Given the description of an element on the screen output the (x, y) to click on. 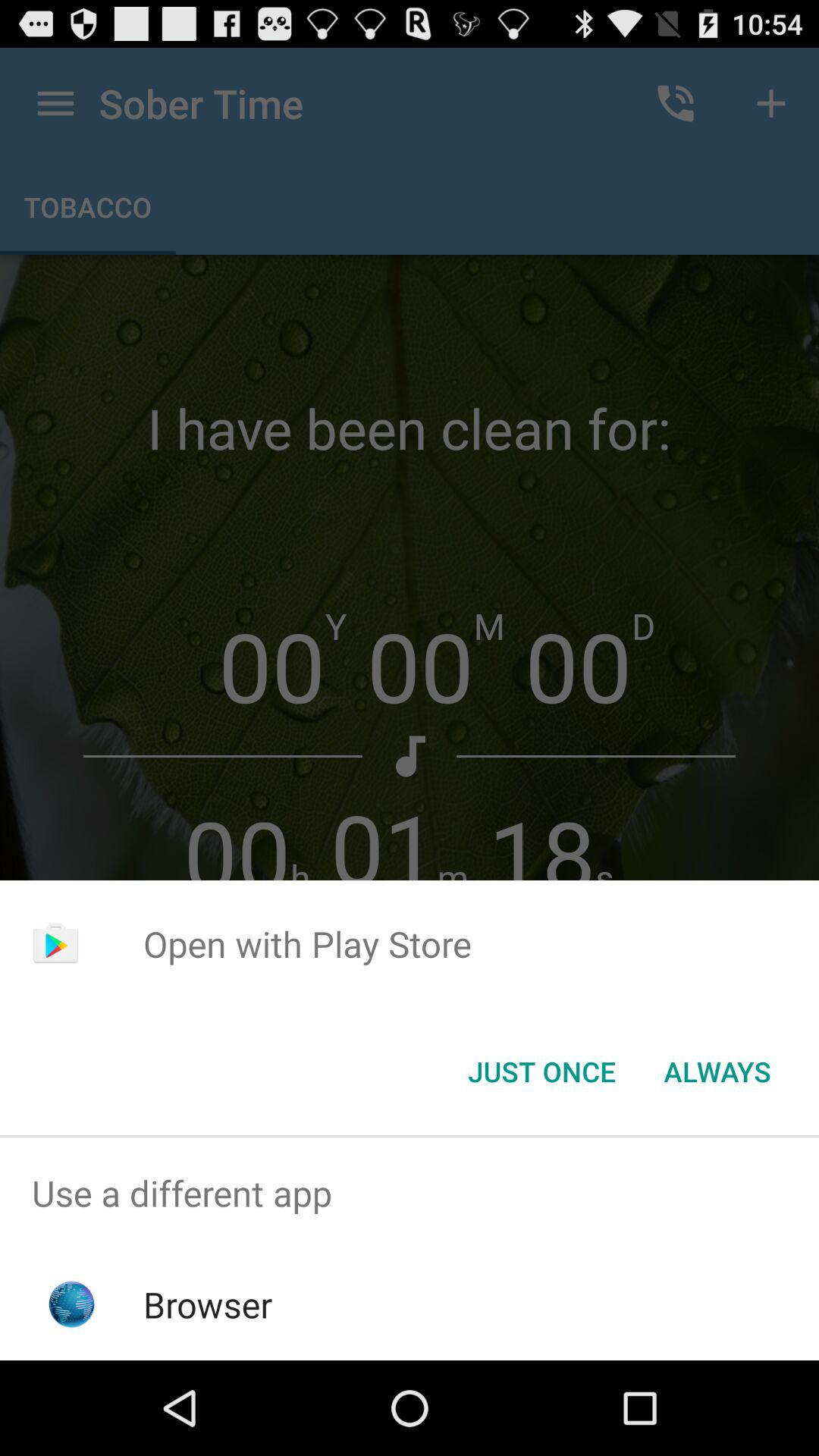
tap browser item (207, 1304)
